Given the description of an element on the screen output the (x, y) to click on. 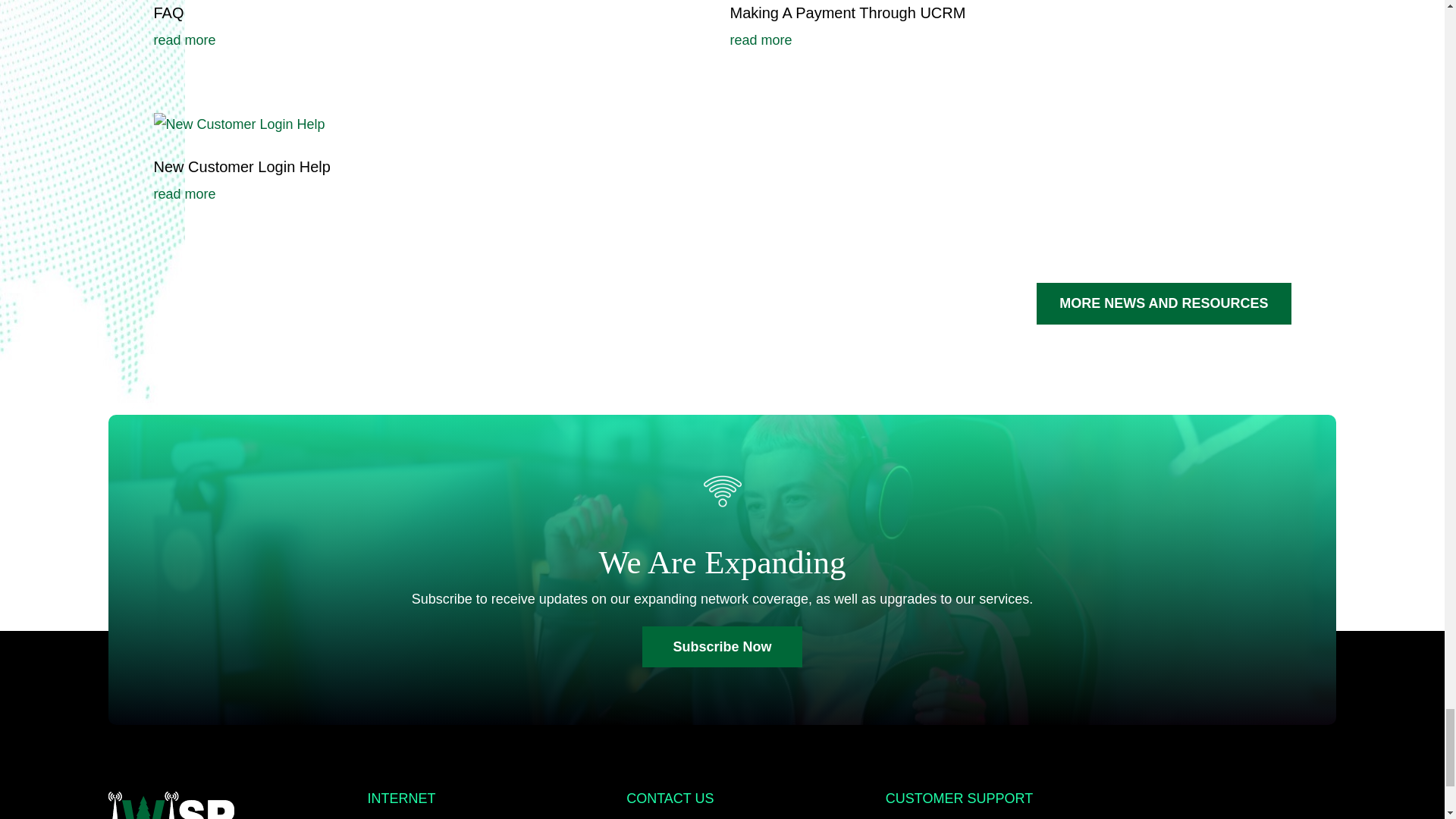
read more (1009, 40)
Making A Payment Through UCRM (847, 12)
FAQ (167, 12)
Subscribe Now (722, 647)
read more (433, 194)
New Customer Login Help (241, 166)
MORE NEWS AND RESOURCES (1163, 303)
read more (433, 40)
